Given the description of an element on the screen output the (x, y) to click on. 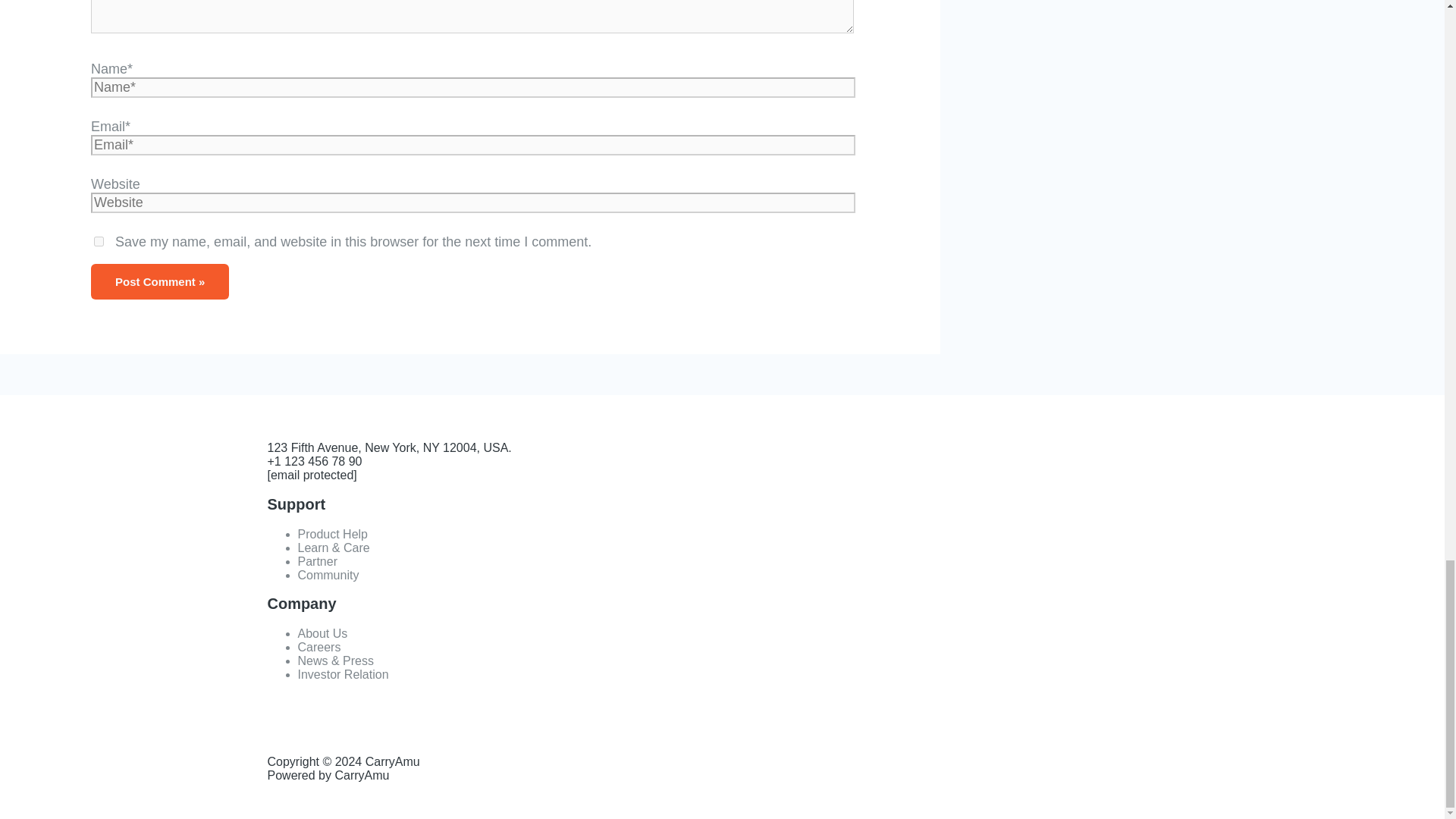
Community (327, 574)
Partner (316, 561)
yes (98, 241)
Product Help (332, 533)
About Us (322, 633)
Investor Relation (342, 674)
Careers (318, 646)
